Given the description of an element on the screen output the (x, y) to click on. 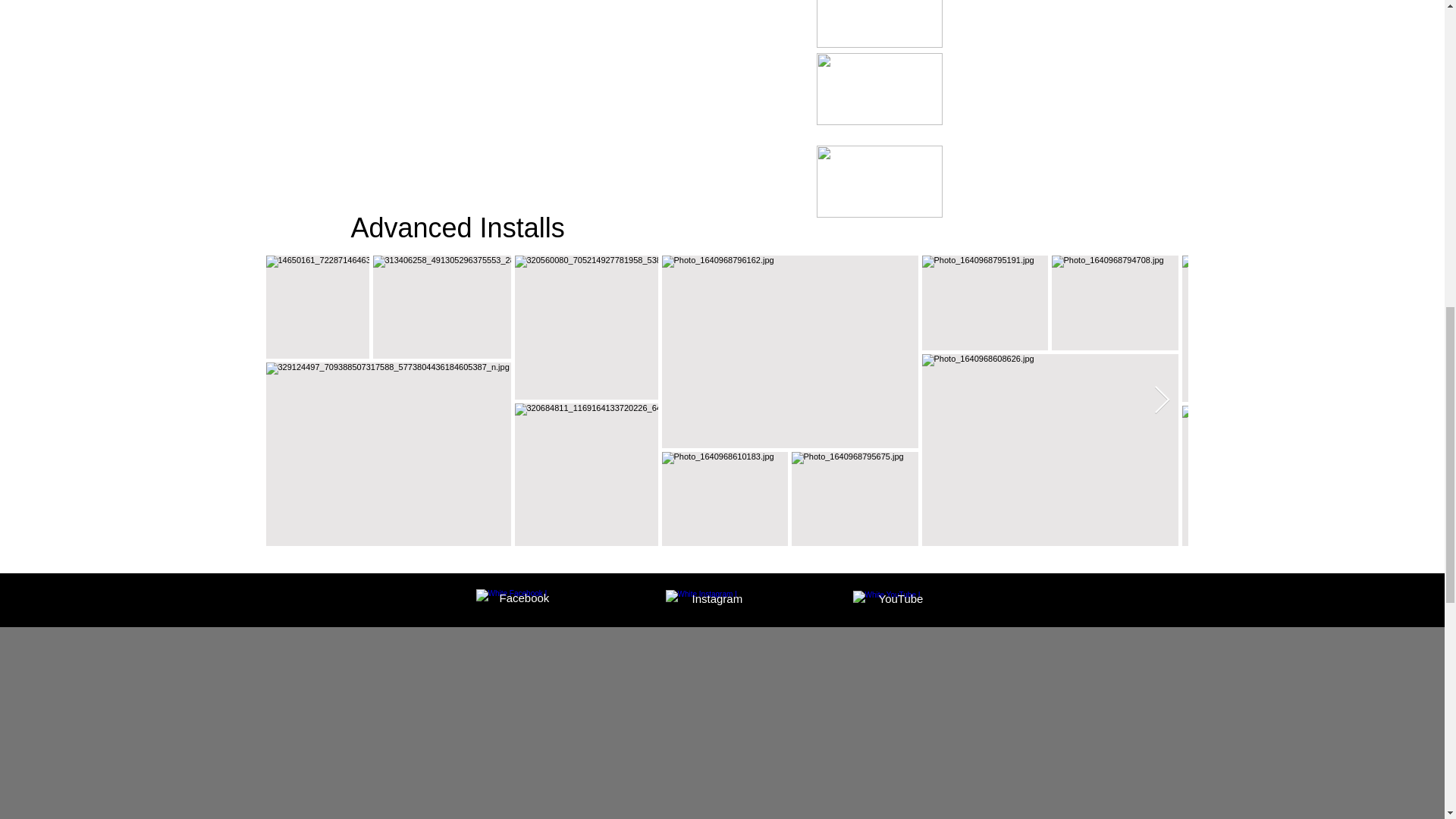
1641433759513-05.jpeg (878, 23)
1641433759513-04.jpeg (878, 89)
1641433759513-03.jpeg (878, 181)
